Given the description of an element on the screen output the (x, y) to click on. 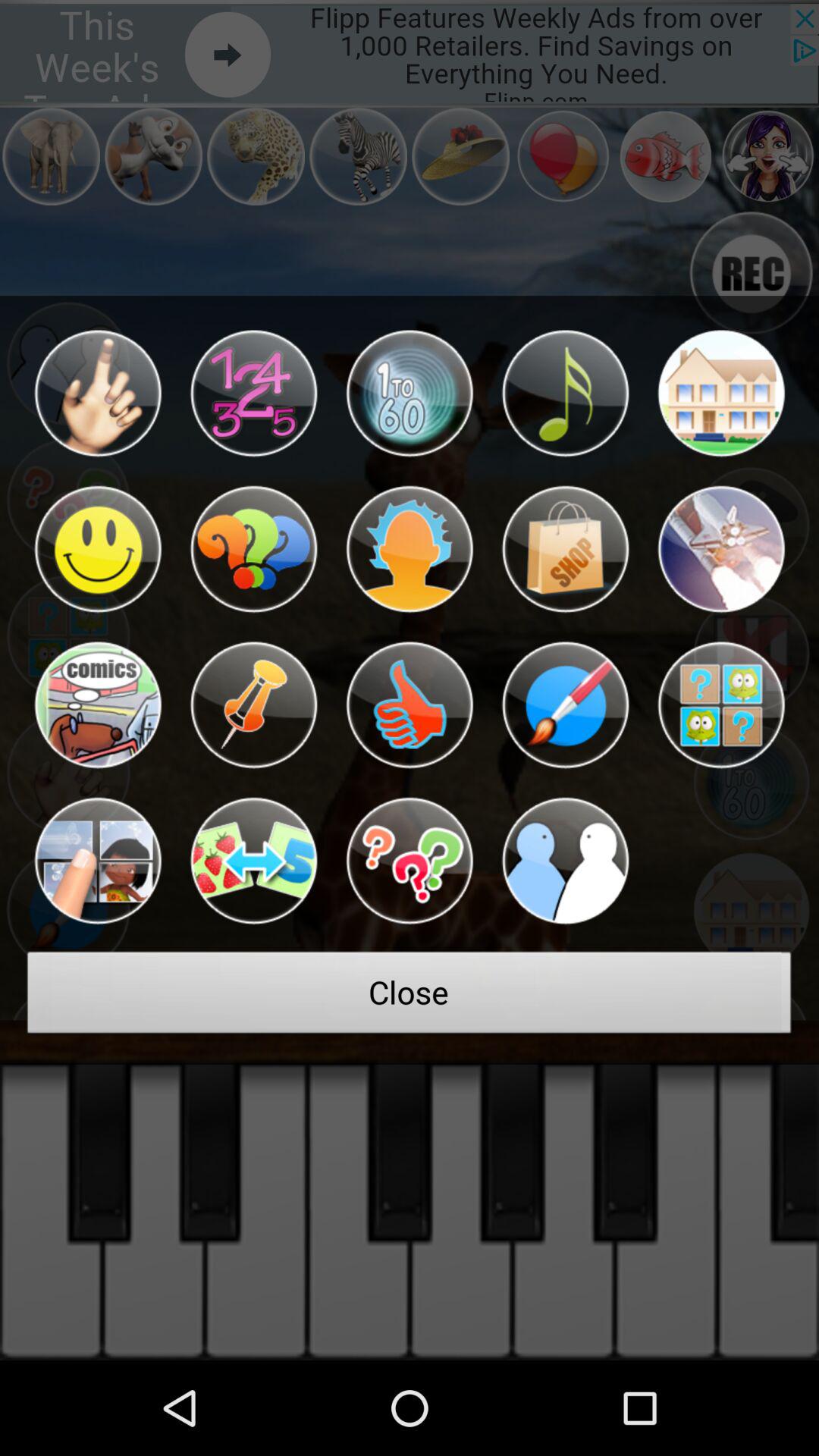
select option (721, 549)
